Given the description of an element on the screen output the (x, y) to click on. 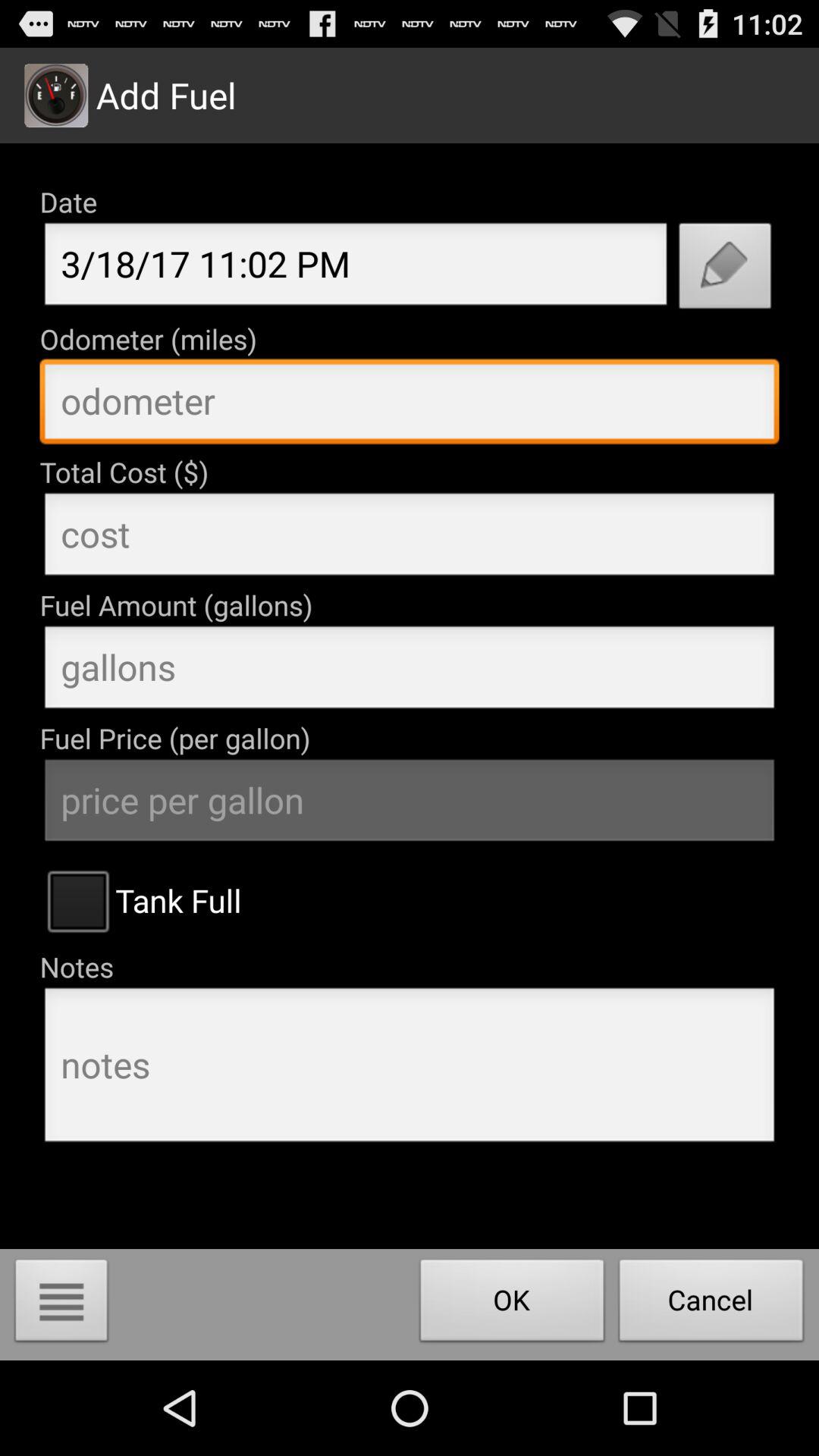
enter text (409, 405)
